Given the description of an element on the screen output the (x, y) to click on. 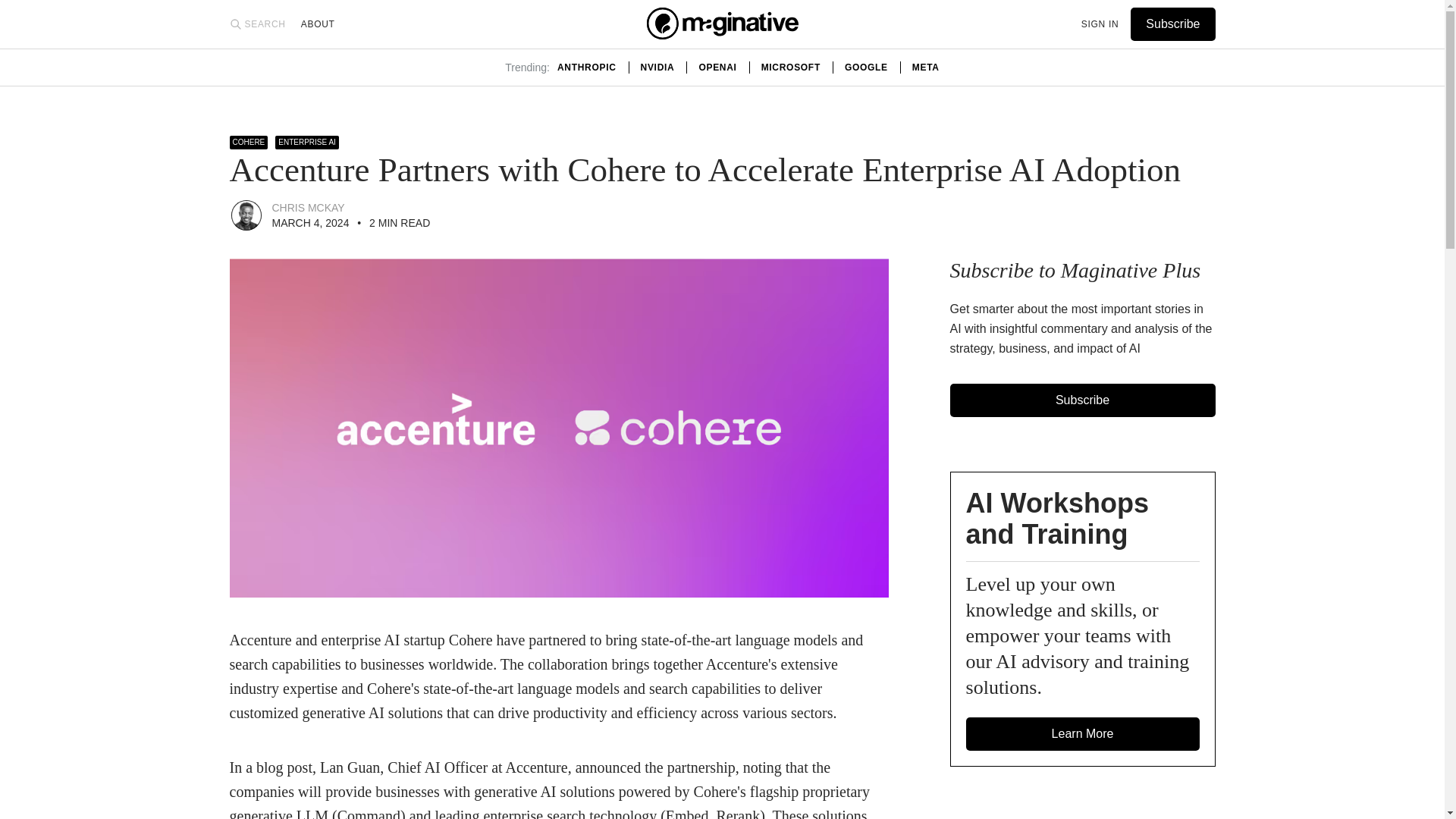
ABOUT (317, 23)
CHRIS MCKAY (306, 207)
SEARCH (256, 23)
COHERE (247, 142)
MICROSOFT (791, 67)
Subscribe (1082, 400)
META (925, 67)
Cohere (247, 142)
Learn More (1082, 734)
Subscribe (1172, 23)
